Given the description of an element on the screen output the (x, y) to click on. 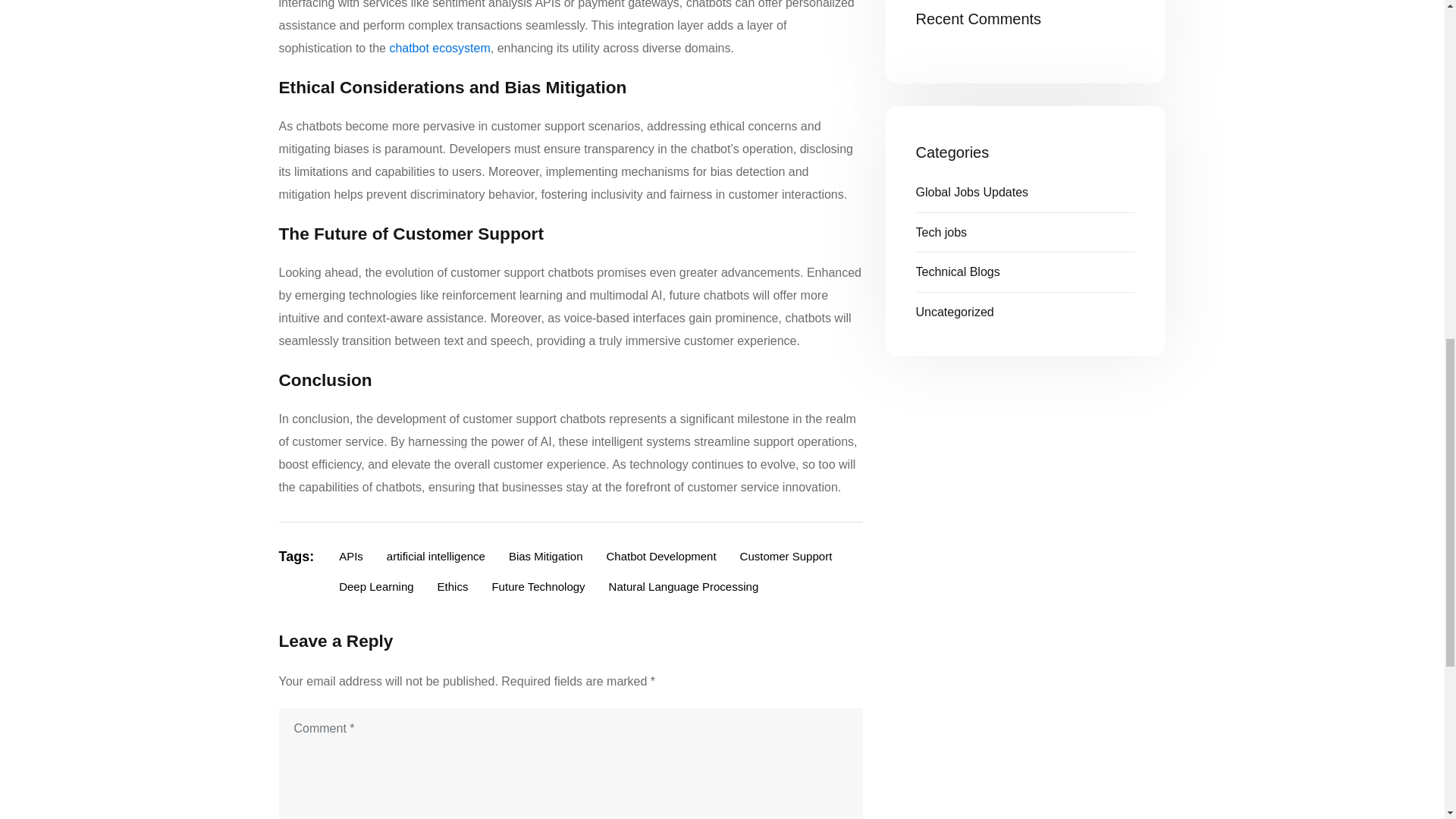
Ethics (453, 586)
Customer Support (786, 556)
APIs (350, 556)
Natural Language Processing (683, 586)
chatbot ecosystem (438, 47)
Future Technology (537, 586)
Deep Learning (376, 586)
Chatbot Development (660, 556)
Bias Mitigation (545, 556)
artificial intelligence (436, 556)
